Given the description of an element on the screen output the (x, y) to click on. 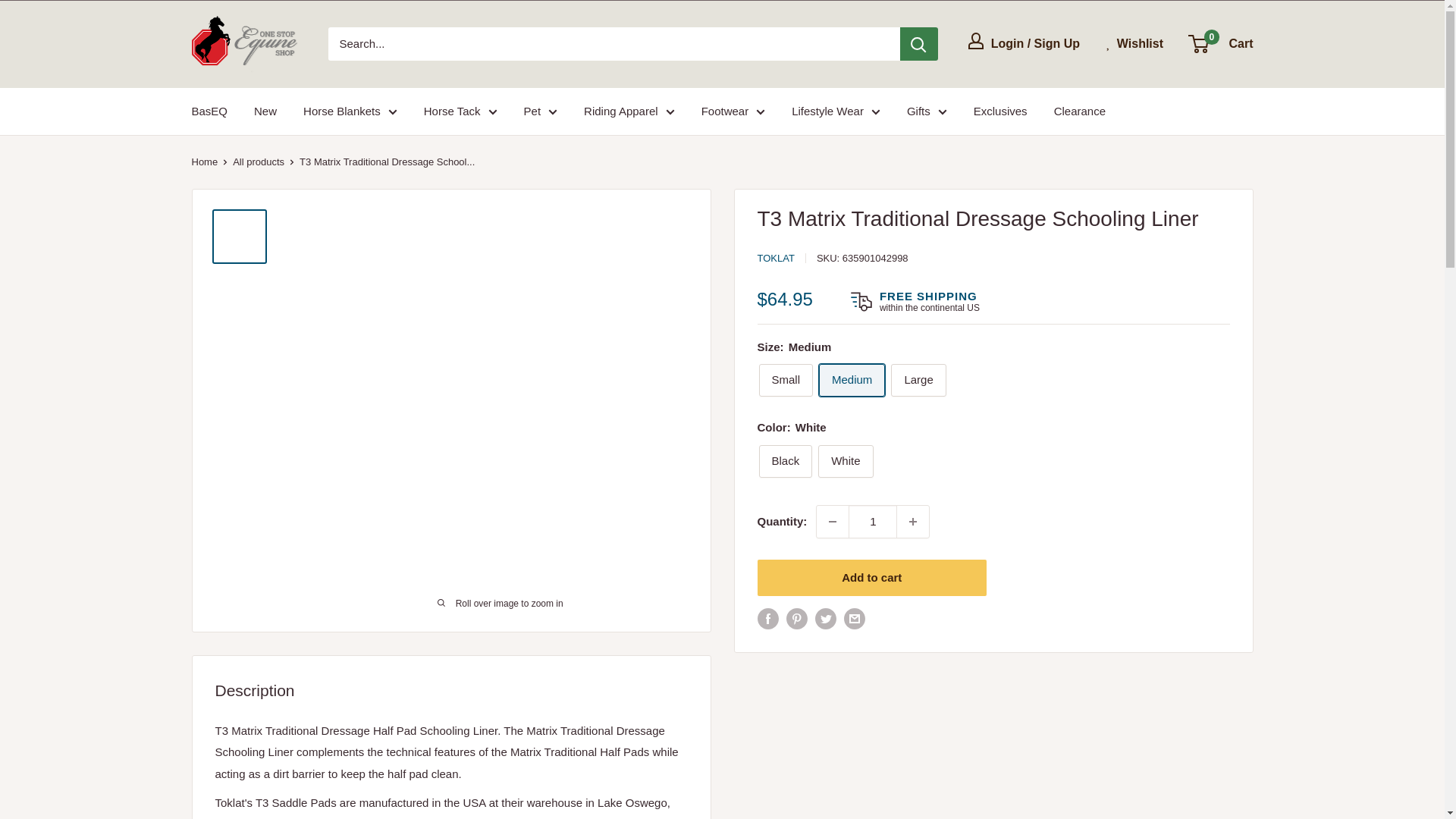
Large (917, 379)
Black (785, 461)
Decrease quantity by 1 (832, 521)
Increase quantity by 1 (912, 521)
White (845, 461)
Small (785, 379)
Medium (851, 379)
1 (872, 521)
